Given the description of an element on the screen output the (x, y) to click on. 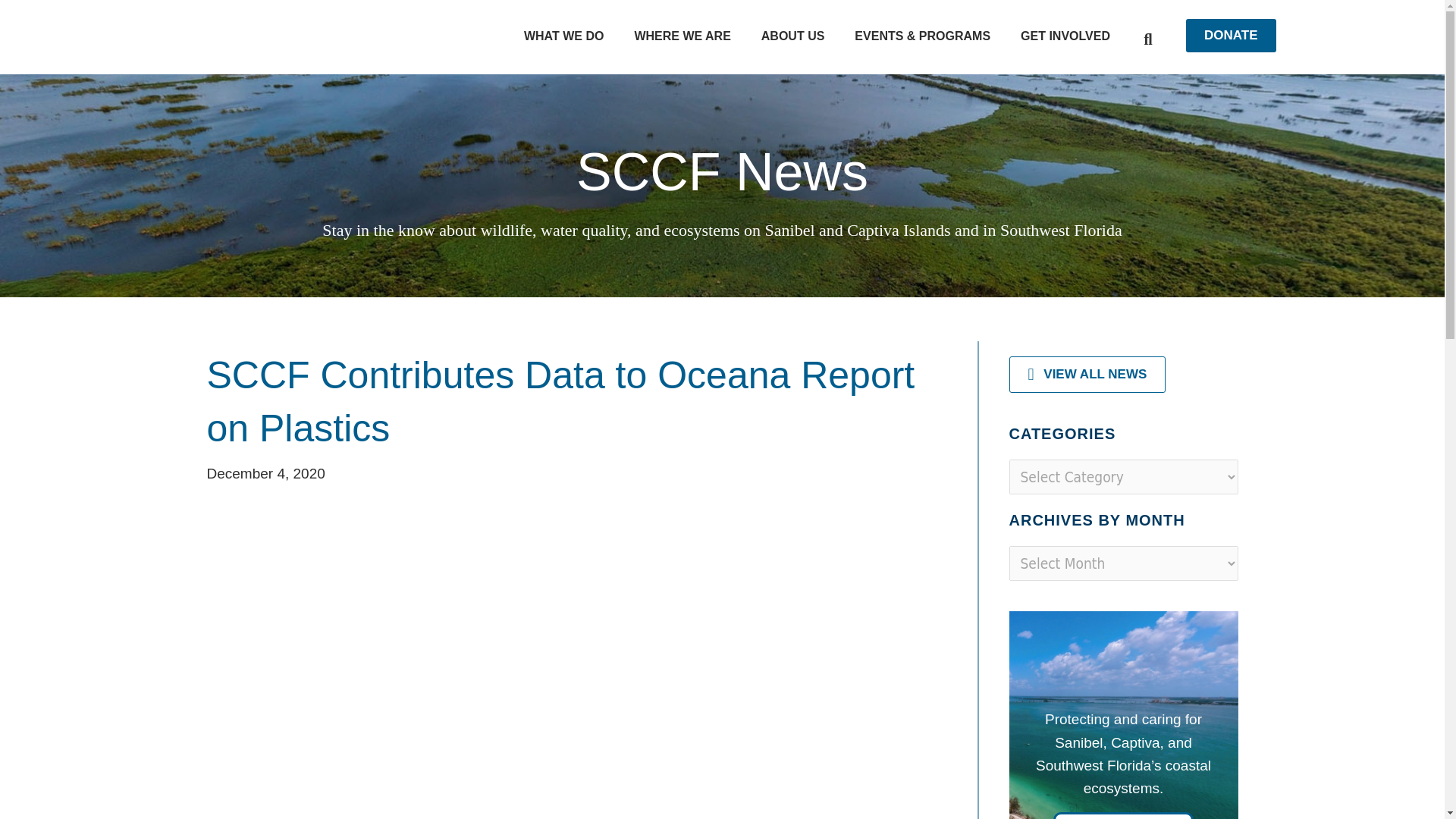
DONATE (1231, 35)
WHAT WE DO (563, 36)
